Given the description of an element on the screen output the (x, y) to click on. 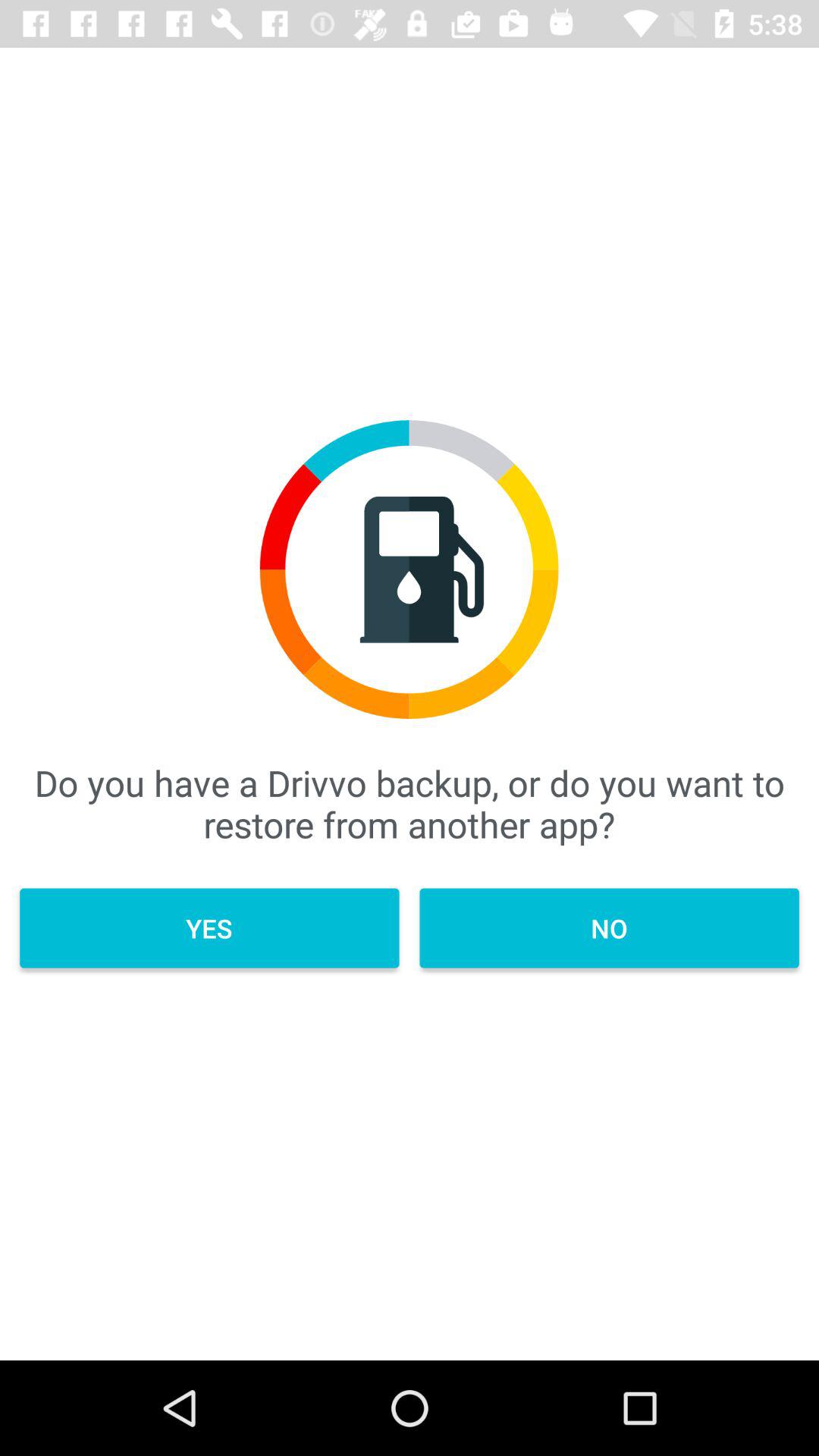
tap the yes item (209, 928)
